Given the description of an element on the screen output the (x, y) to click on. 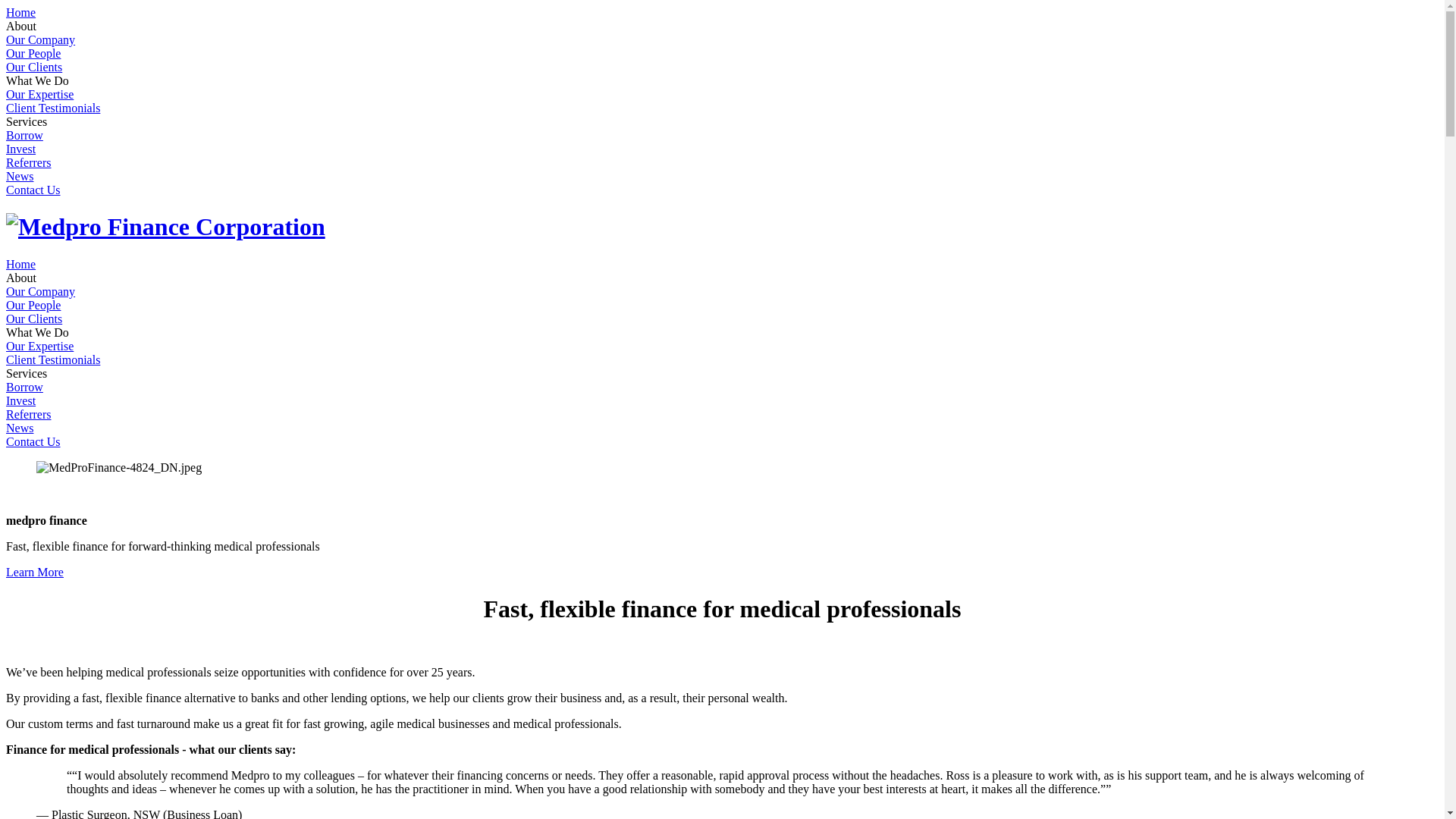
Our Clients Element type: text (34, 66)
Invest Element type: text (20, 400)
Our Clients Element type: text (34, 318)
Our Company Element type: text (40, 291)
Our Expertise Element type: text (39, 345)
Borrow Element type: text (24, 386)
Our People Element type: text (33, 304)
Learn More Element type: text (34, 571)
Client Testimonials Element type: text (53, 359)
Contact Us Element type: text (33, 189)
Our Expertise Element type: text (39, 93)
Invest Element type: text (20, 148)
Contact Us Element type: text (33, 441)
Borrow Element type: text (24, 134)
Client Testimonials Element type: text (53, 107)
Home Element type: text (20, 12)
Our People Element type: text (33, 53)
Our Company Element type: text (40, 39)
Home Element type: text (20, 263)
News Element type: text (19, 175)
Referrers Element type: text (28, 413)
News Element type: text (19, 427)
Referrers Element type: text (28, 162)
